Given the description of an element on the screen output the (x, y) to click on. 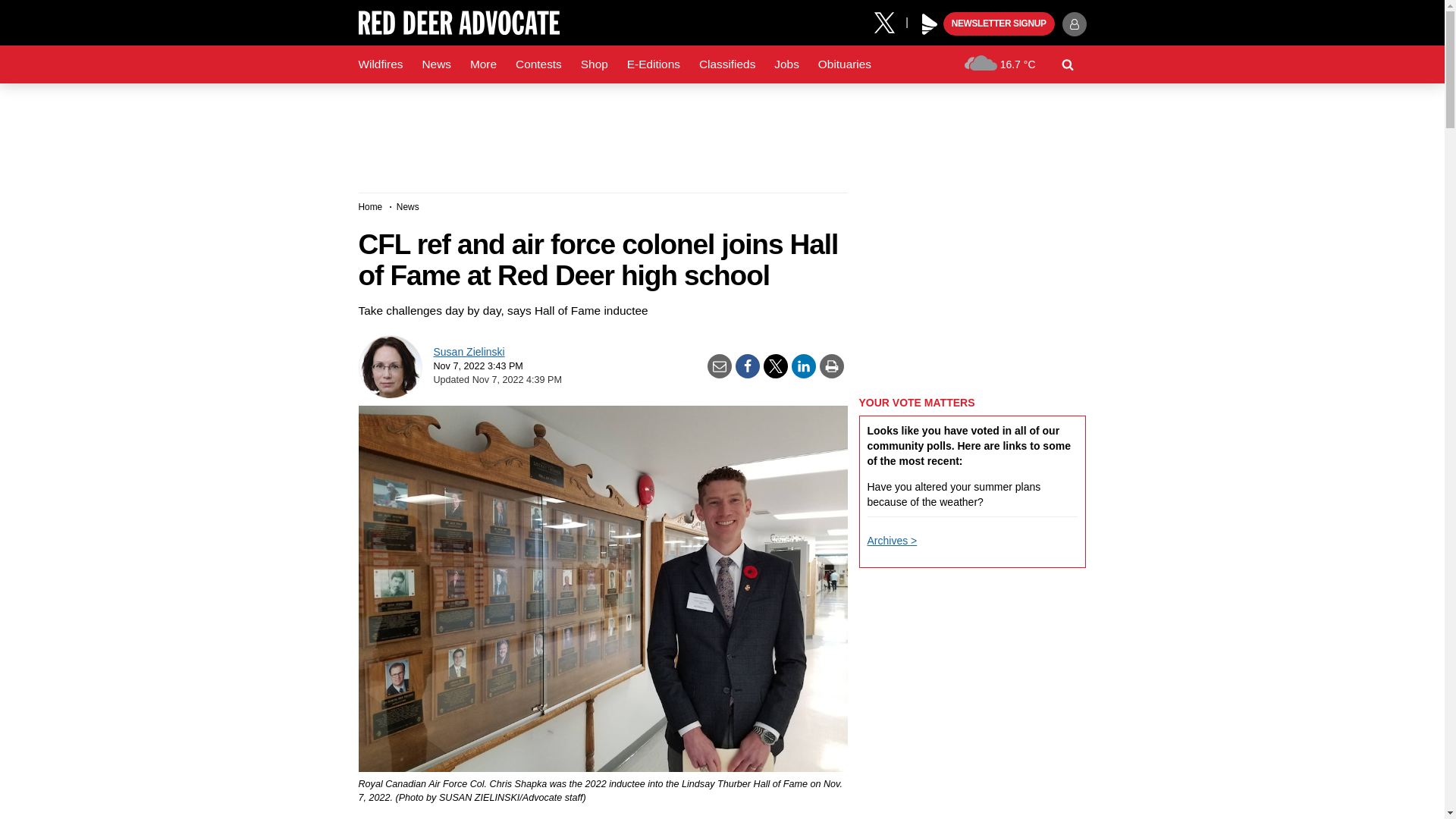
News (435, 64)
NEWSLETTER SIGNUP (998, 24)
Play (929, 24)
Wildfires (380, 64)
Black Press Media (929, 24)
X (889, 21)
